Given the description of an element on the screen output the (x, y) to click on. 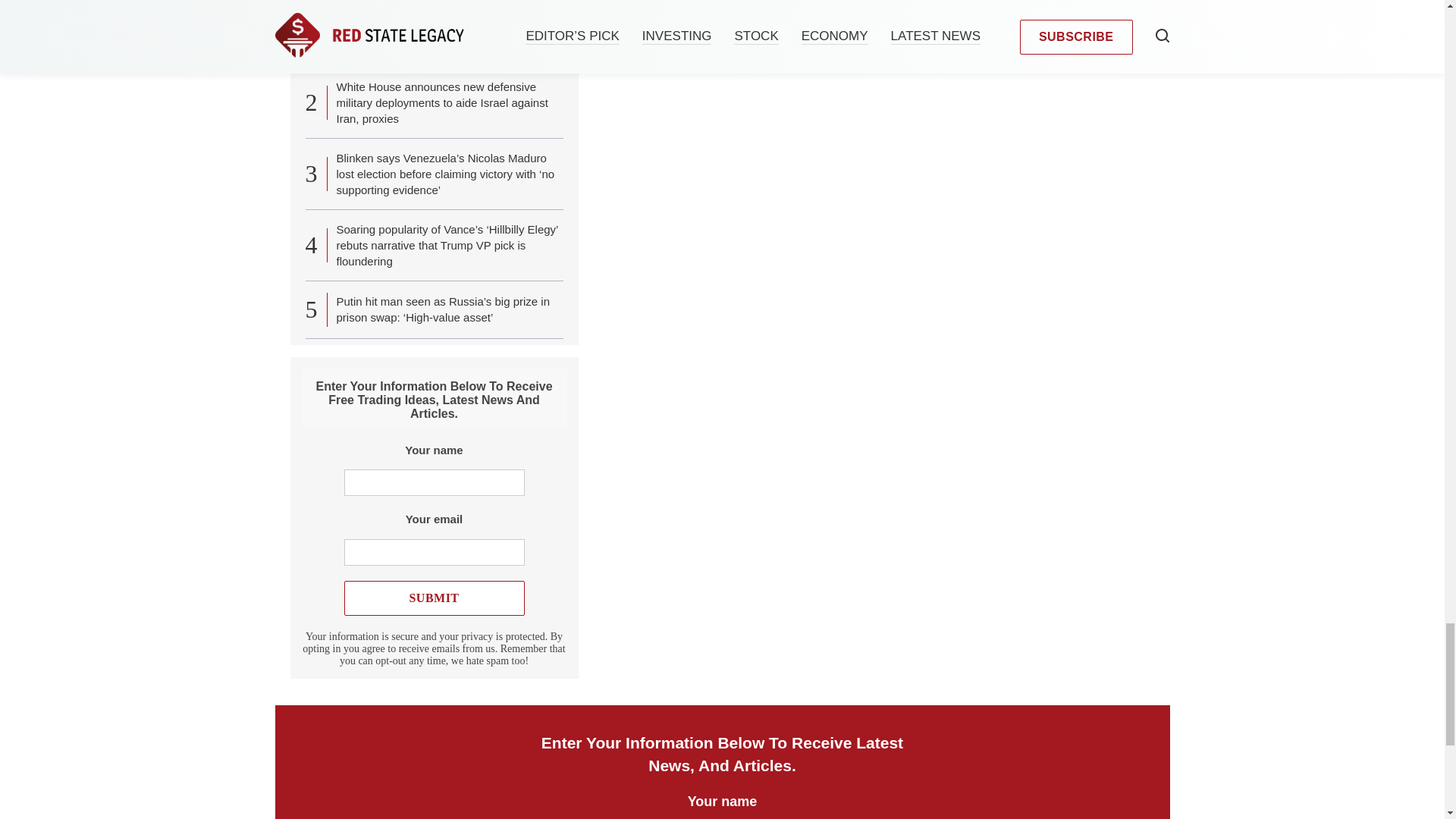
Submit (433, 597)
